Given the description of an element on the screen output the (x, y) to click on. 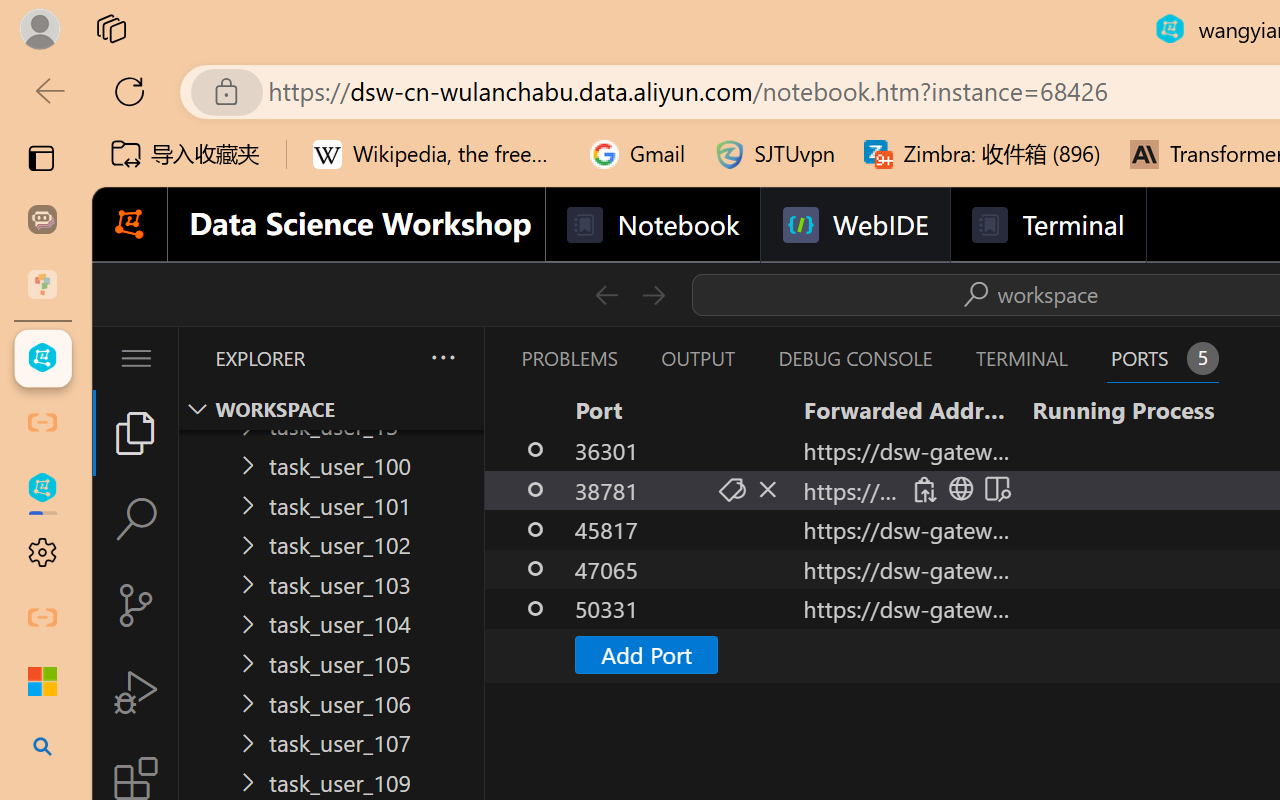
Source Control (Ctrl+Shift+G) (135, 604)
Run and Debug (Ctrl+Shift+D) (135, 692)
Gmail (637, 154)
Views and More Actions... (442, 357)
Preview in Editor (994, 489)
Microsoft security help and learning (42, 681)
Add Port (645, 654)
Ports - 5 forwarded ports Ports - 5 forwarded ports (1162, 358)
Class: menubar compact overflow-menu-only (135, 358)
Search (Ctrl+Shift+F) (135, 519)
Terminal (1046, 225)
